Given the description of an element on the screen output the (x, y) to click on. 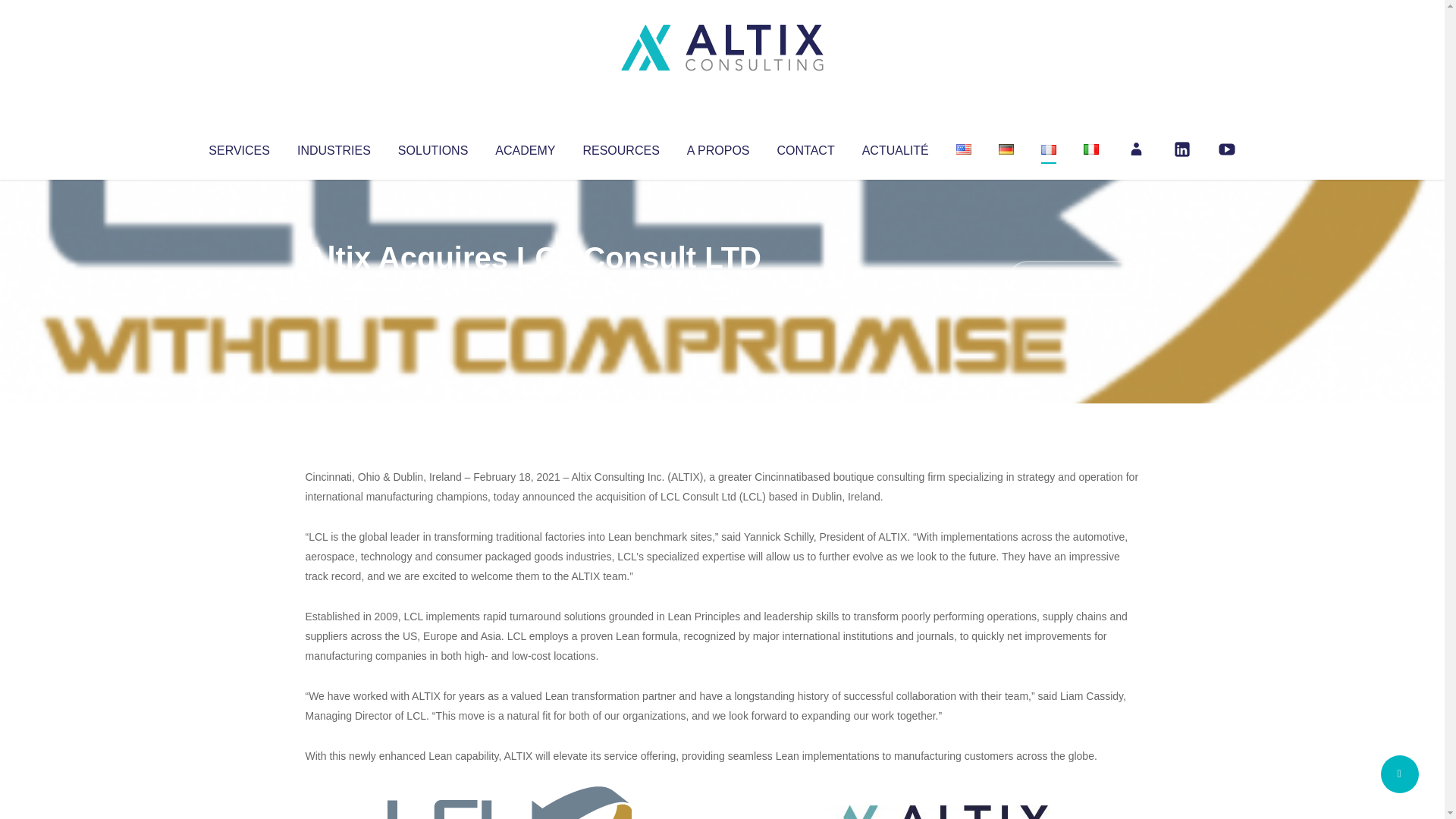
A PROPOS (718, 146)
Uncategorized (530, 287)
Altix (333, 287)
RESOURCES (620, 146)
INDUSTRIES (334, 146)
SOLUTIONS (432, 146)
Articles par Altix (333, 287)
ACADEMY (524, 146)
SERVICES (238, 146)
No Comments (1073, 278)
